Given the description of an element on the screen output the (x, y) to click on. 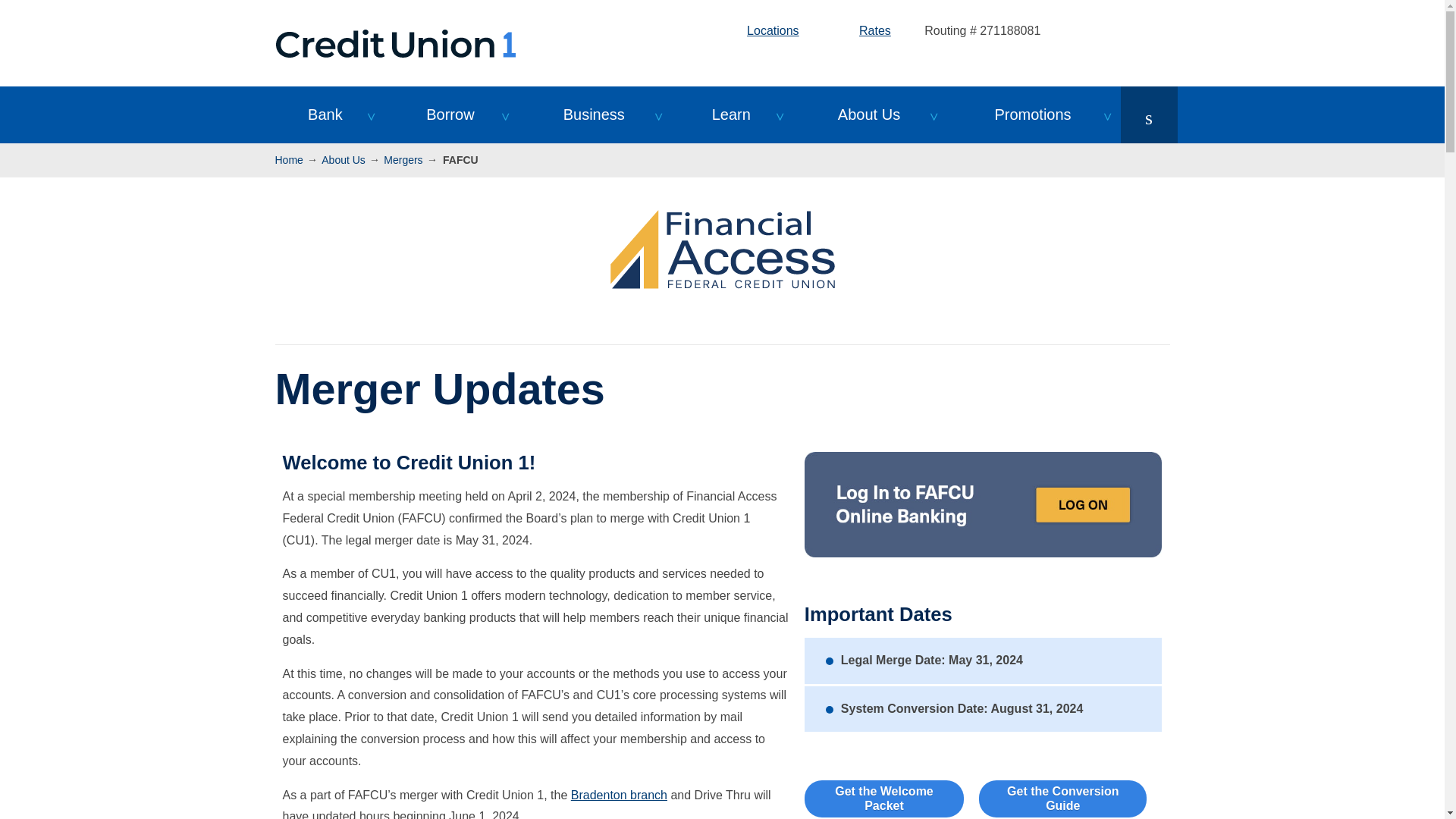
Locations (759, 30)
Rates (861, 30)
Bank (324, 114)
